Given the description of an element on the screen output the (x, y) to click on. 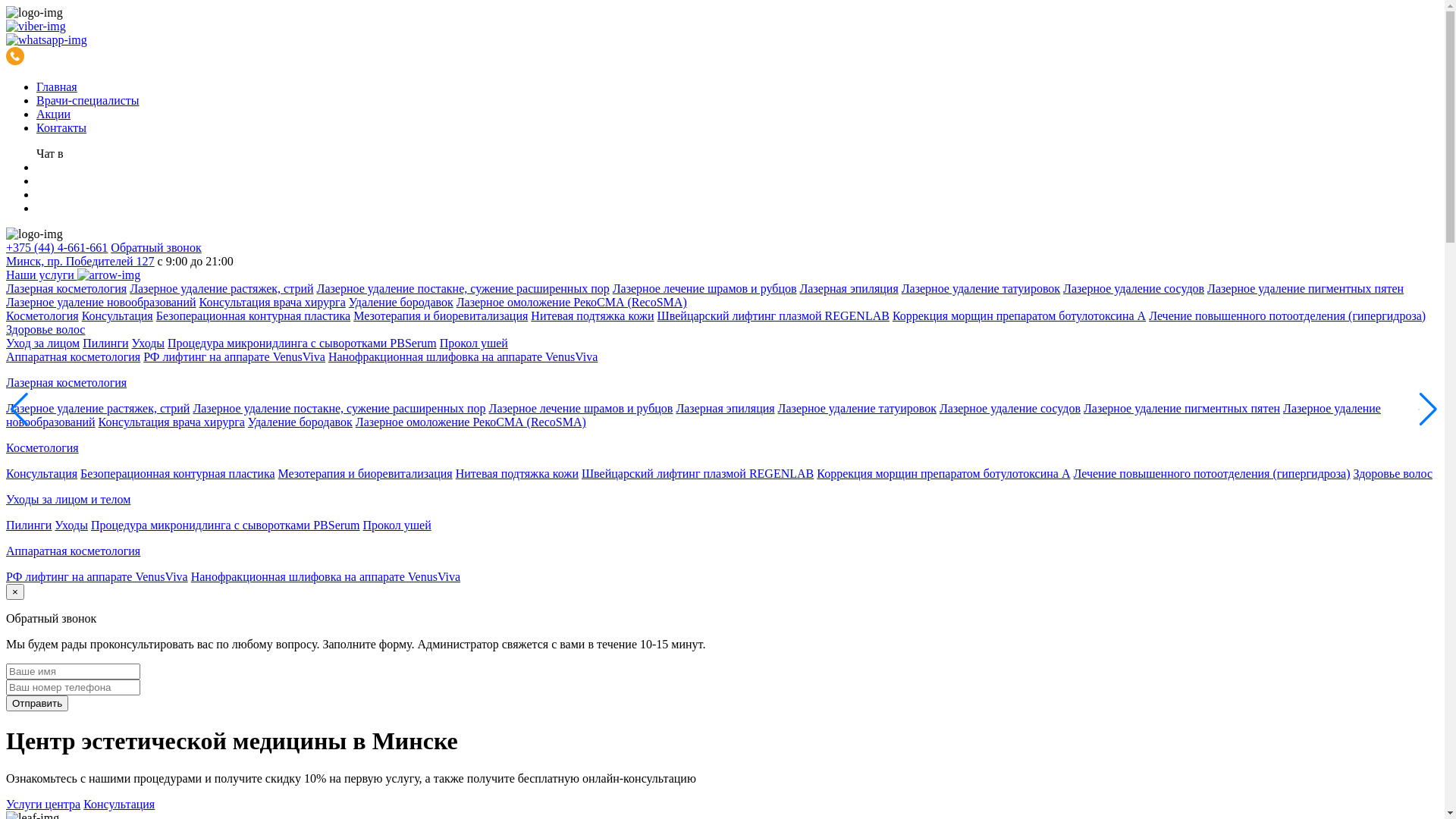
+375 (44) 4-661-661 Element type: text (56, 247)
